Given the description of an element on the screen output the (x, y) to click on. 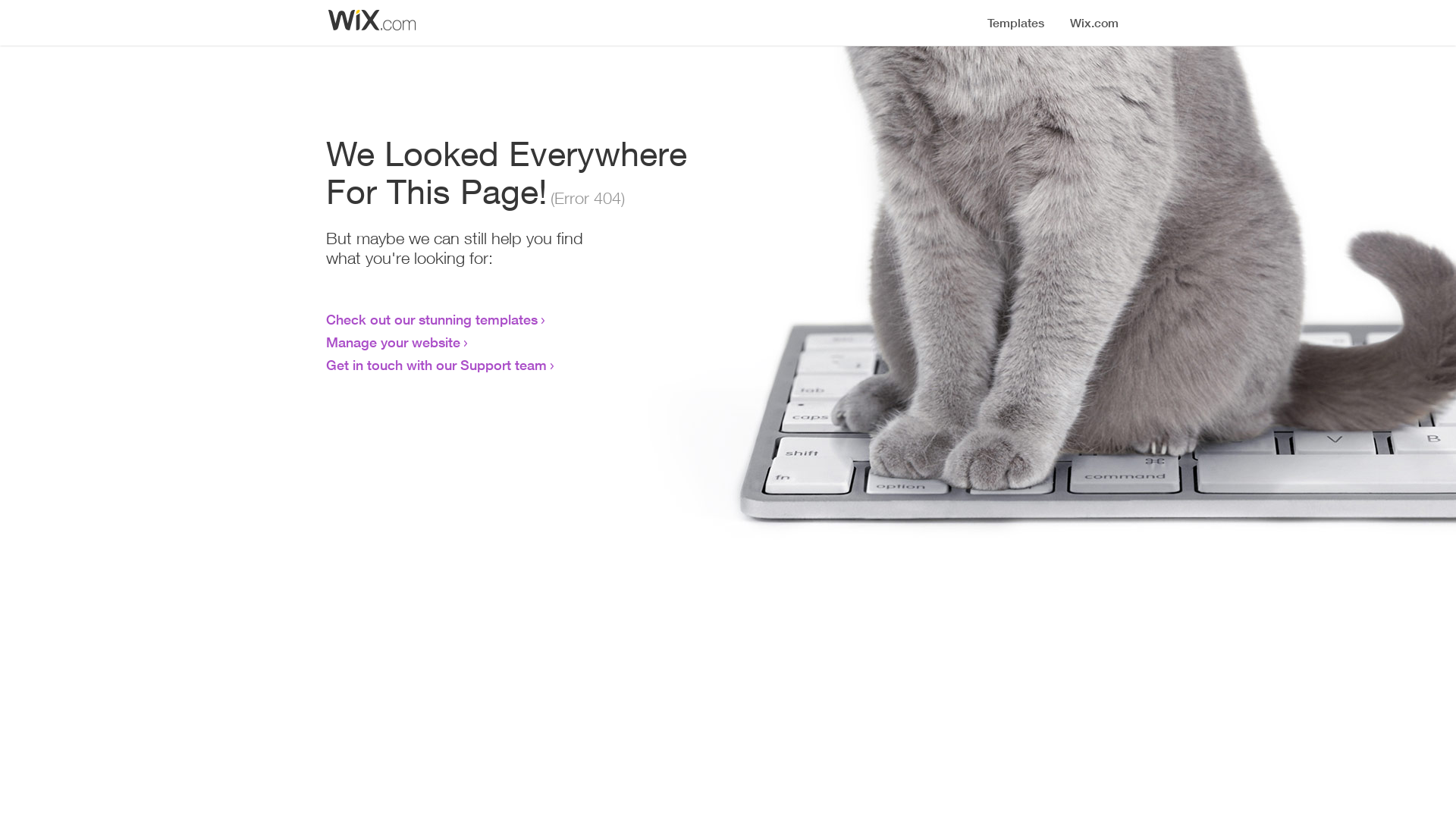
Get in touch with our Support team Element type: text (436, 364)
Manage your website Element type: text (393, 341)
Check out our stunning templates Element type: text (431, 318)
